Given the description of an element on the screen output the (x, y) to click on. 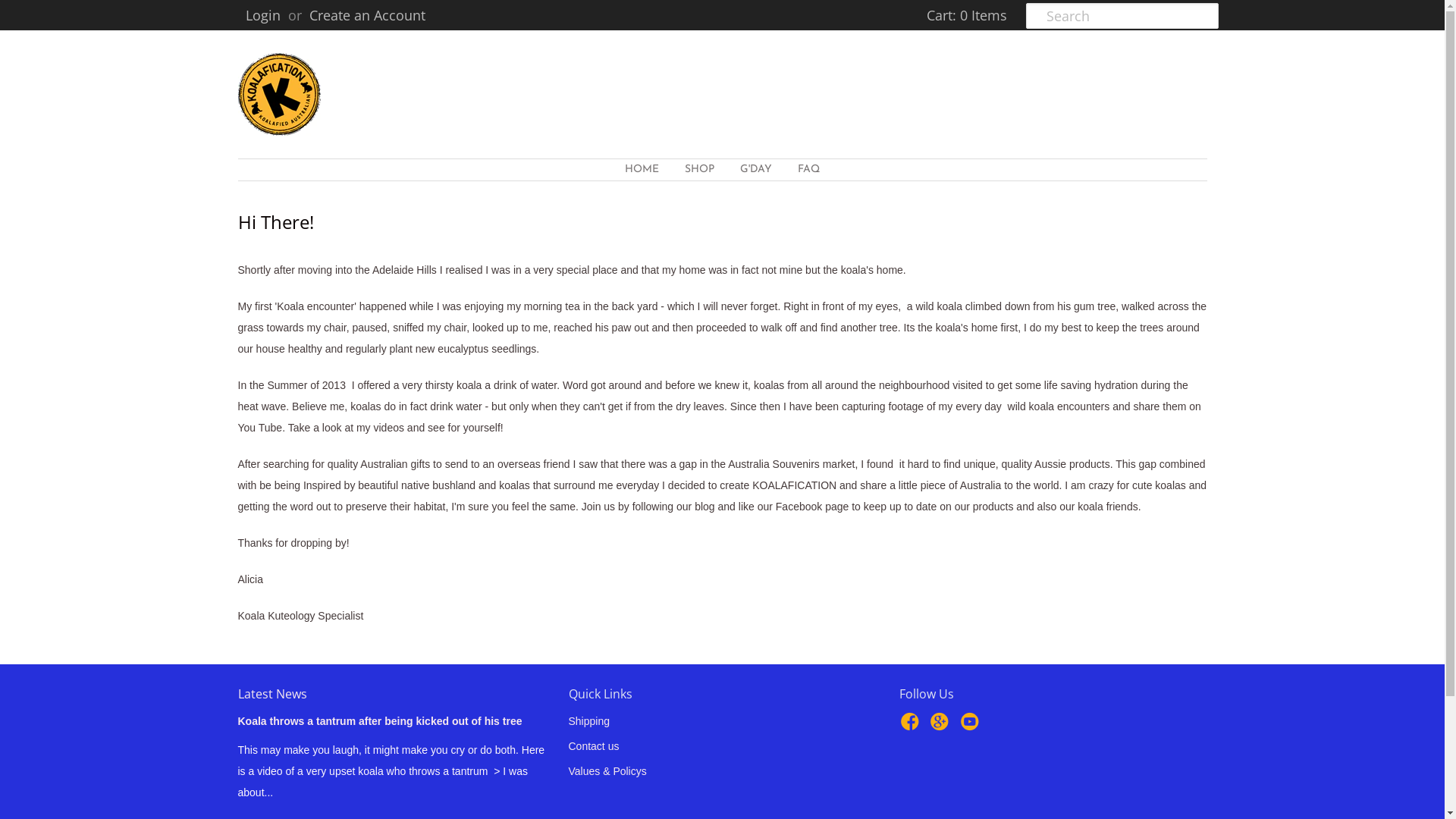
Create an Account Element type: text (367, 15)
Values & Policys Element type: text (607, 771)
Follow us on Google+! Element type: hover (941, 725)
Cart: 0 Items Element type: text (964, 15)
Shipping Element type: text (589, 721)
Contact us Element type: text (593, 746)
Login Element type: text (262, 15)
SHOP Element type: text (699, 169)
Latest News Element type: text (272, 693)
Koala throws a tantrum after being kicked out of his tree Element type: text (380, 721)
Follow us on YouTube! Element type: hover (971, 725)
FAQ Element type: text (808, 169)
G'DAY Element type: text (755, 169)
Follow us on Facebook! Element type: hover (911, 725)
HOME Element type: text (641, 169)
